Given the description of an element on the screen output the (x, y) to click on. 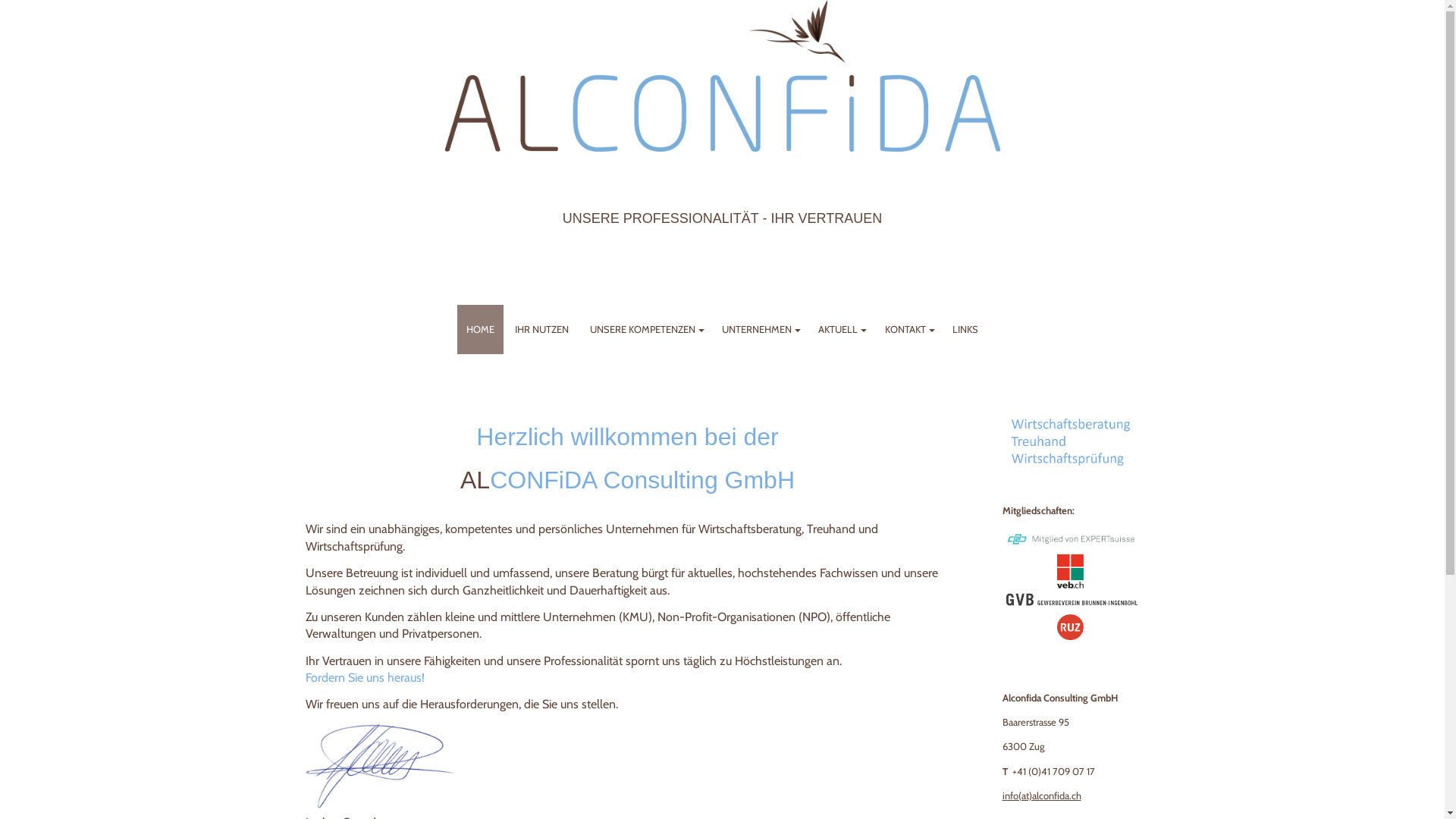
Gewerbeverein Brunnen Element type: hover (1070, 601)
Raiffeisen Unternehmerzentrum Element type: hover (1069, 627)
AKTUELL Element type: text (840, 329)
info(at)alconfida.ch Element type: text (1041, 795)
UNSERE KOMPETENZEN Element type: text (644, 329)
UNTERNEHMEN Element type: text (759, 329)
HOME Element type: text (479, 329)
KONTAKT Element type: text (907, 329)
LINKS Element type: text (964, 329)
IHR NUTZEN Element type: text (541, 329)
